Given the description of an element on the screen output the (x, y) to click on. 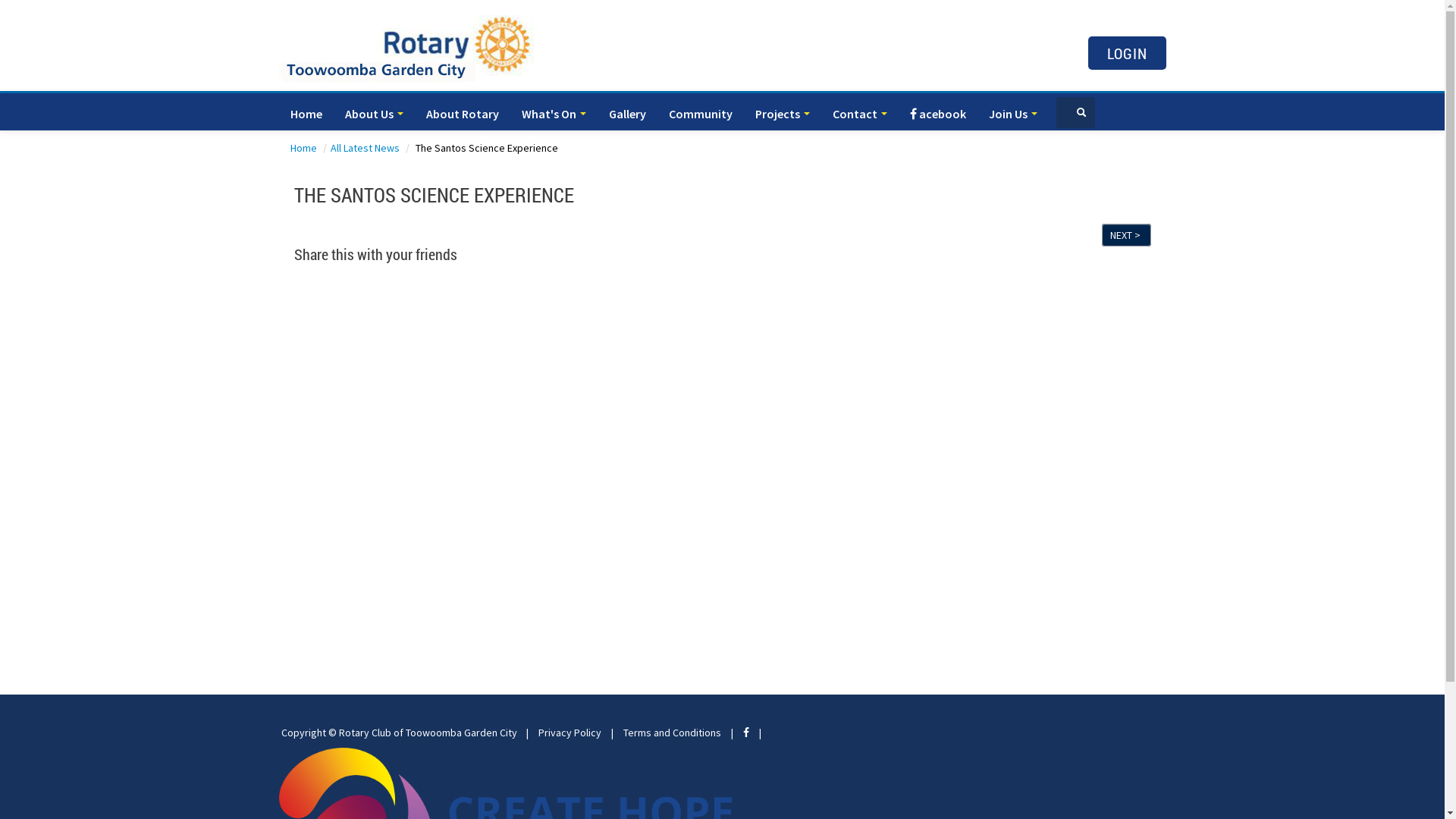
Join Us Element type: text (1012, 113)
Projects Element type: text (781, 113)
NEXT > Element type: text (1125, 234)
Community Element type: text (699, 113)
Terms and Conditions Element type: text (672, 732)
acebook Element type: text (936, 113)
Home Element type: text (303, 147)
LOGIN Element type: text (1126, 52)
Privacy Policy Element type: text (569, 732)
Home Element type: text (306, 113)
All Latest News Element type: text (365, 147)
What's On Element type: text (552, 113)
Contact Element type: text (858, 113)
About Rotary Element type: text (461, 113)
Gallery Element type: text (627, 113)
About Us Element type: text (373, 113)
